Given the description of an element on the screen output the (x, y) to click on. 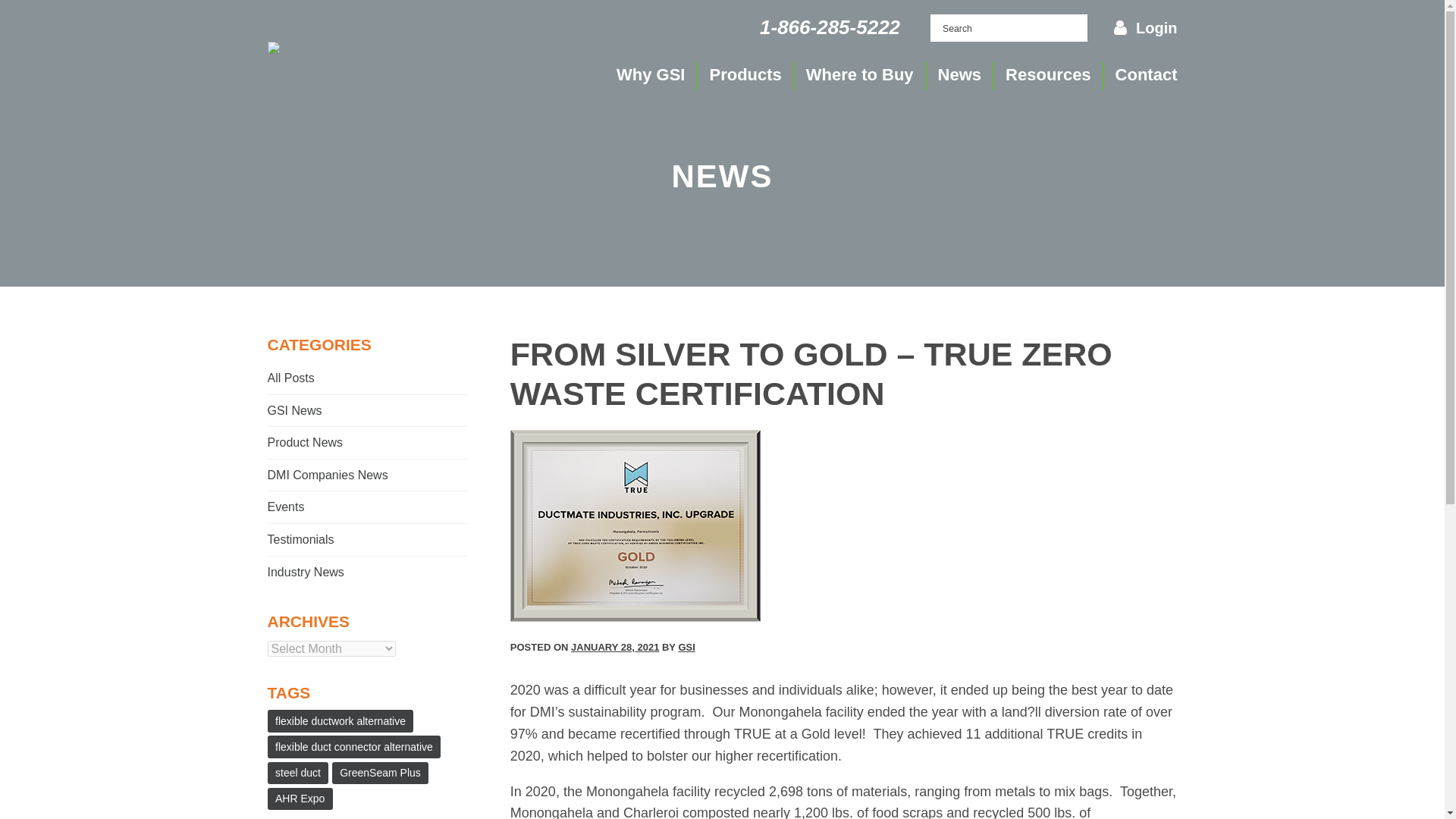
Events (366, 507)
News (959, 76)
GreenSeam (272, 47)
Where to Buy (860, 76)
All Posts (366, 377)
Industry News (366, 572)
flexible ductwork alternative (339, 721)
Login (1155, 27)
GSI News (366, 410)
Why GSI (649, 76)
